Given the description of an element on the screen output the (x, y) to click on. 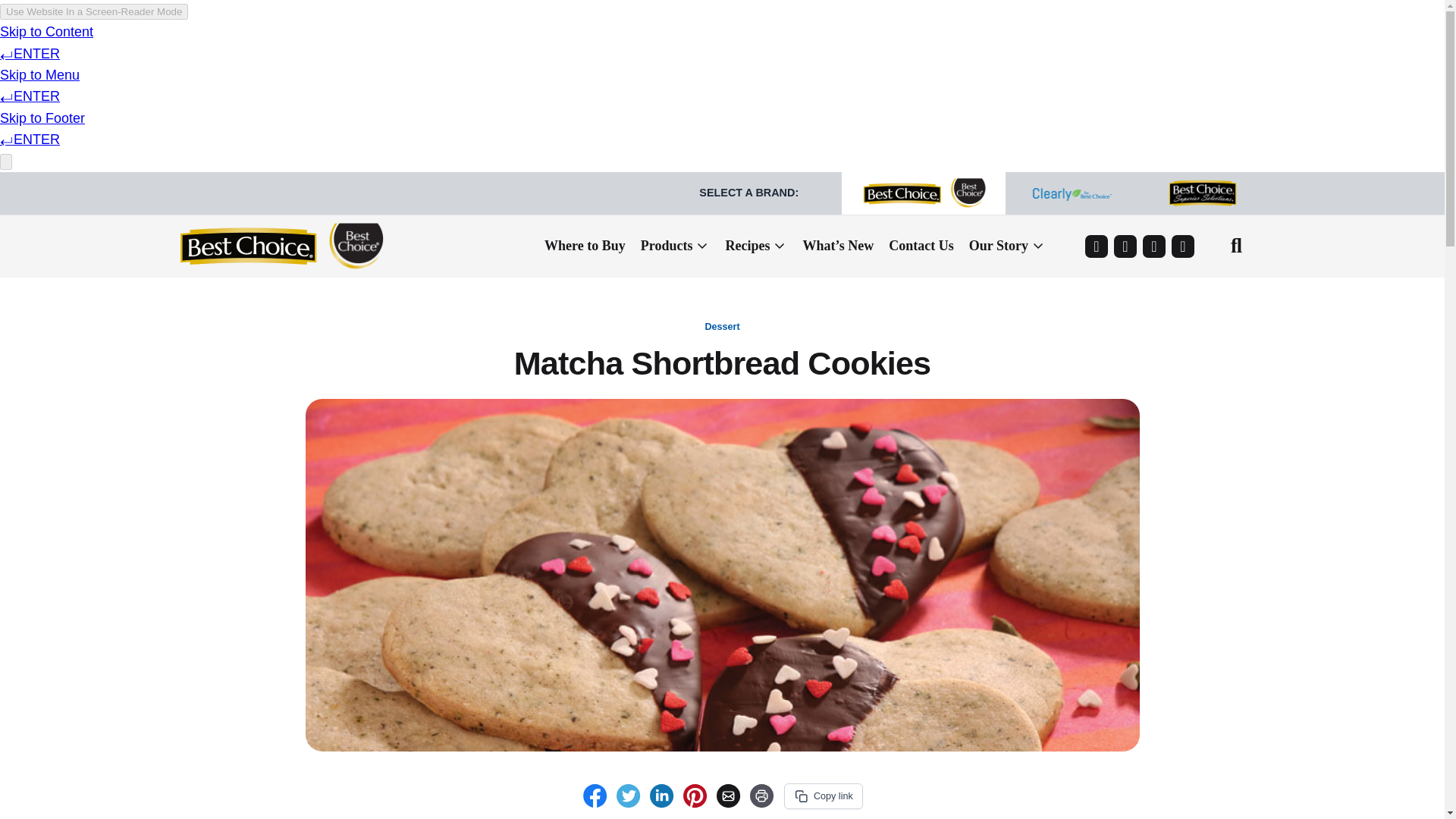
Copy link (823, 795)
Recipes (755, 248)
Contact Us (920, 248)
Products (675, 248)
Our Story (1006, 248)
Dessert (721, 326)
Where to Buy (585, 248)
